Given the description of an element on the screen output the (x, y) to click on. 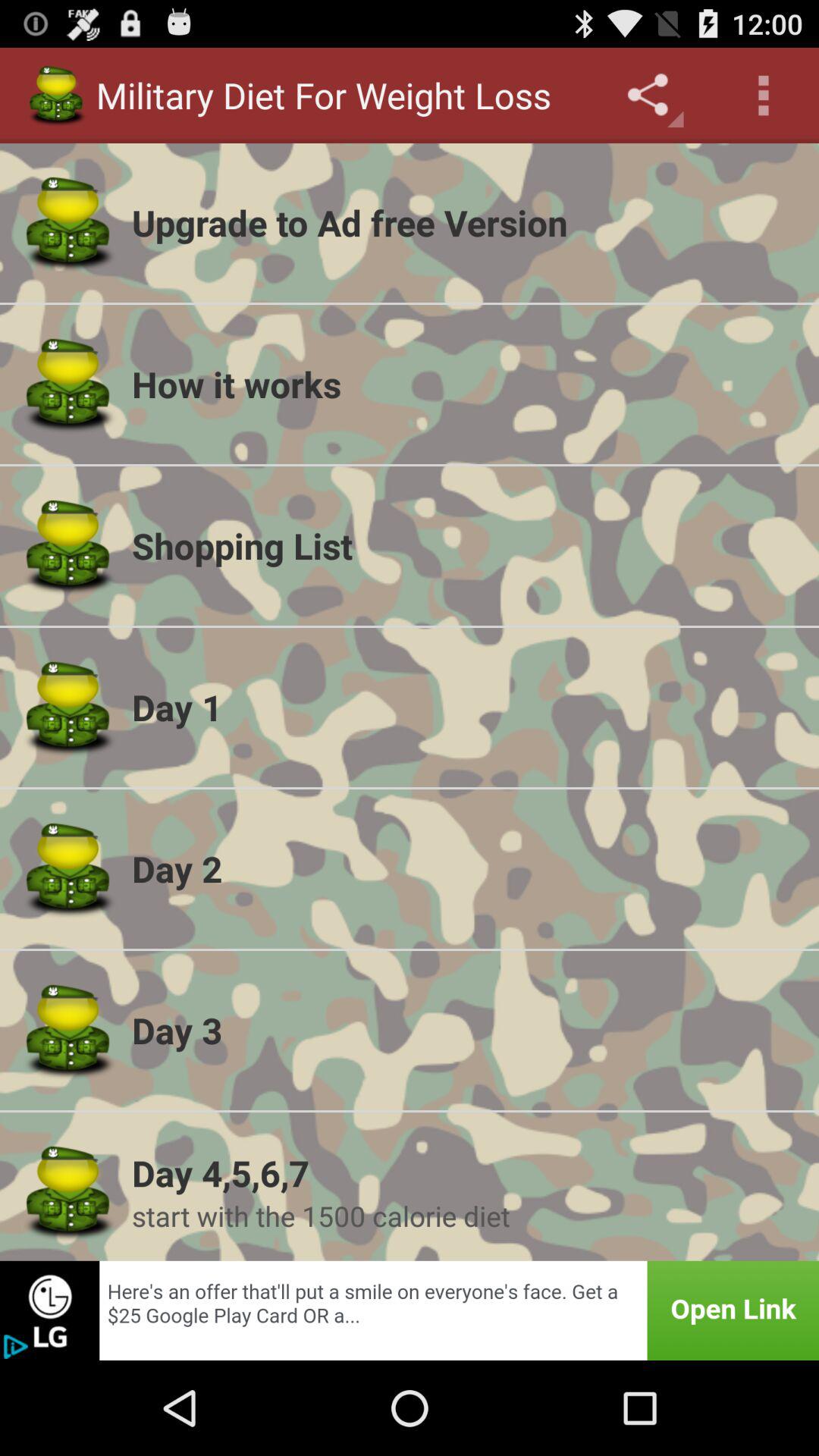
this image was advertisement (409, 1310)
